Given the description of an element on the screen output the (x, y) to click on. 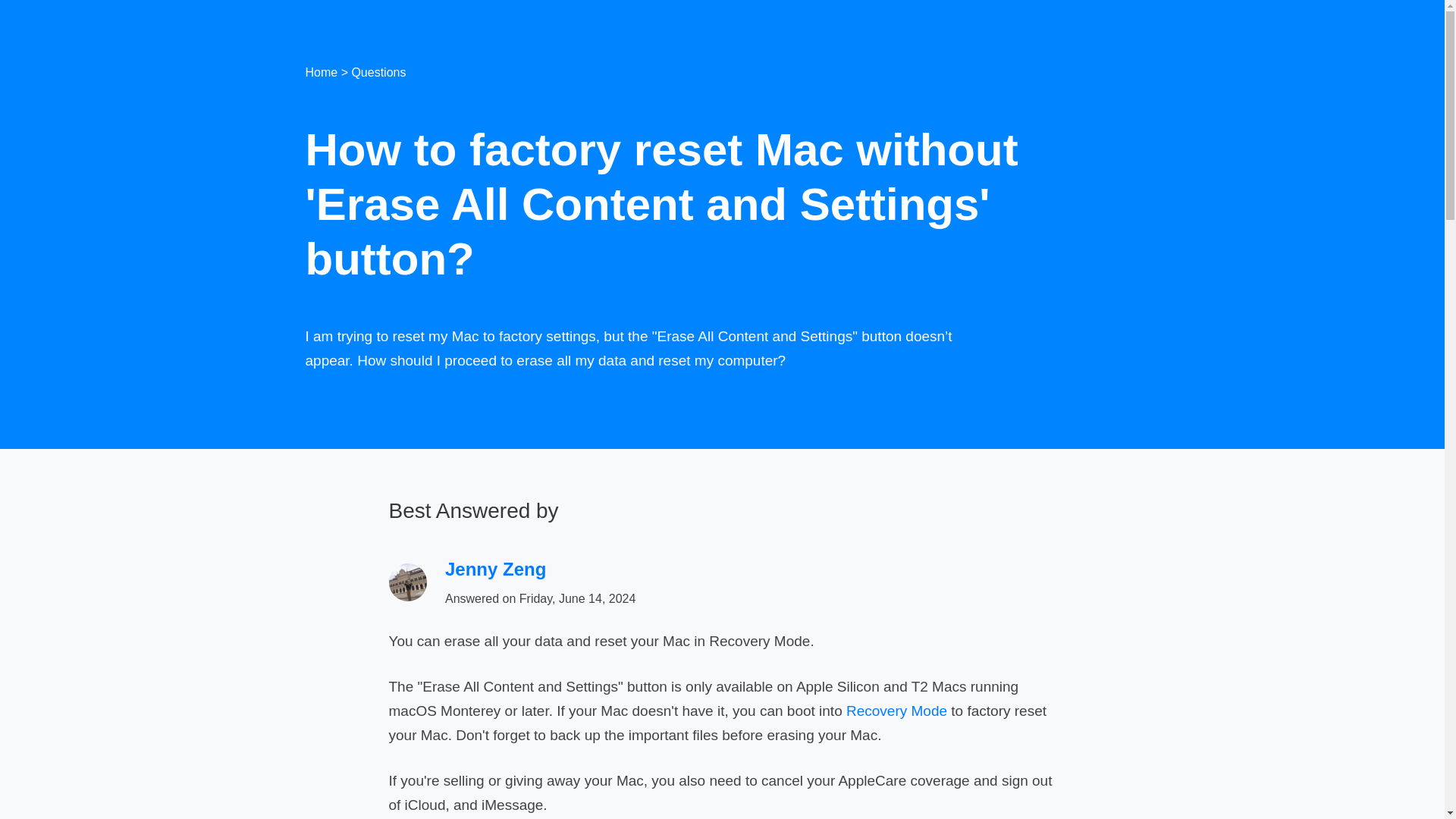
Questions (378, 72)
Recovery Mode (896, 710)
Home (320, 72)
Jenny Zeng (495, 568)
